Given the description of an element on the screen output the (x, y) to click on. 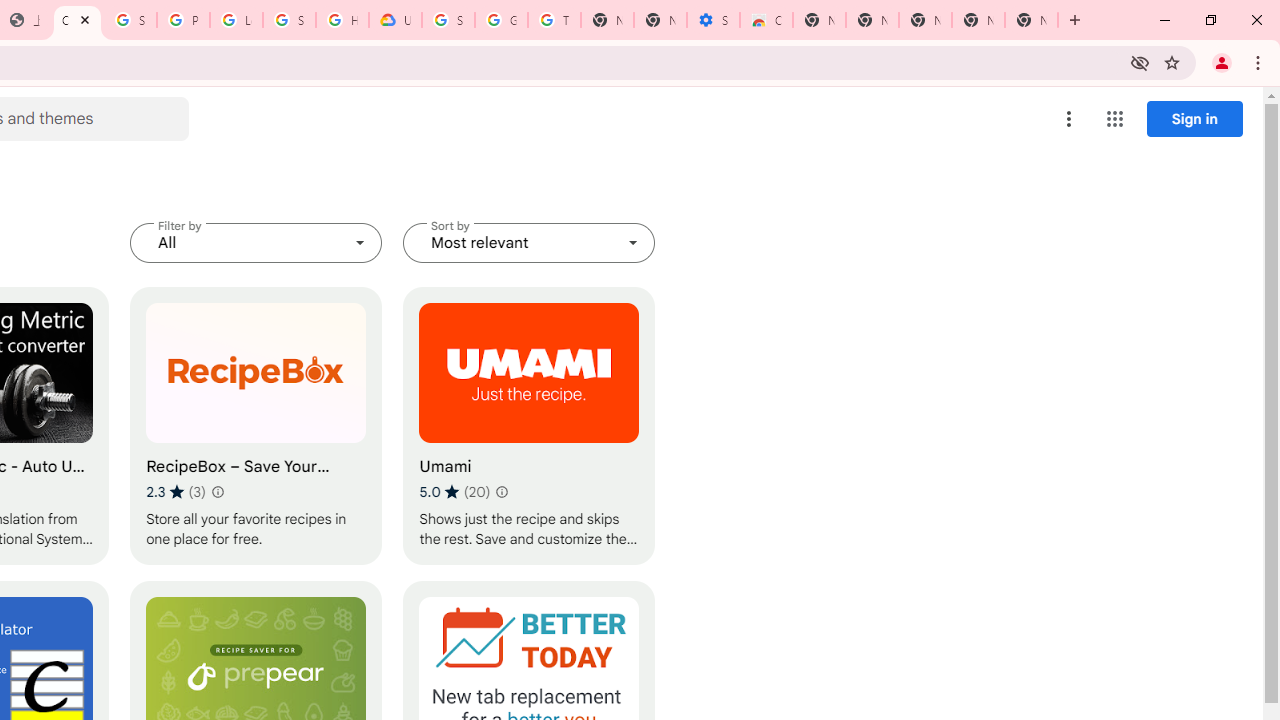
Sign in - Google Accounts (289, 20)
Turn cookies on or off - Computer - Google Account Help (554, 20)
Settings - Accessibility (713, 20)
Average rating 2.3 out of 5 stars. 3 ratings. (176, 491)
Sort by Most relevant (529, 242)
New Tab (1031, 20)
